Given the description of an element on the screen output the (x, y) to click on. 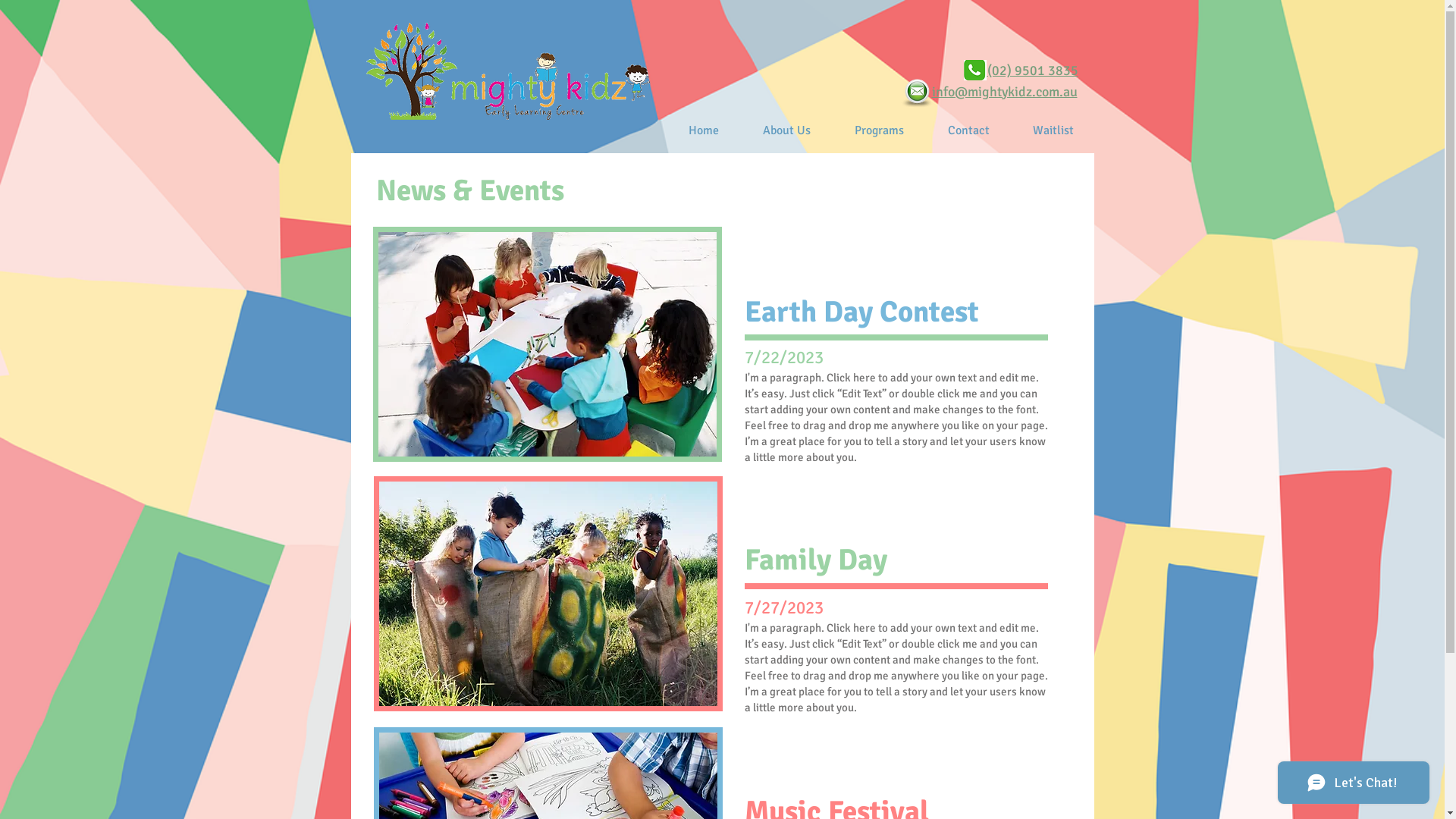
Programs Element type: text (878, 130)
(02) 9501 3835 Element type: text (1032, 70)
Waitlist Element type: text (1053, 130)
Home Element type: text (702, 130)
About Us Element type: text (785, 130)
Contact Element type: text (967, 130)
info@mightykidz.com.au Element type: text (1003, 91)
